Given the description of an element on the screen output the (x, y) to click on. 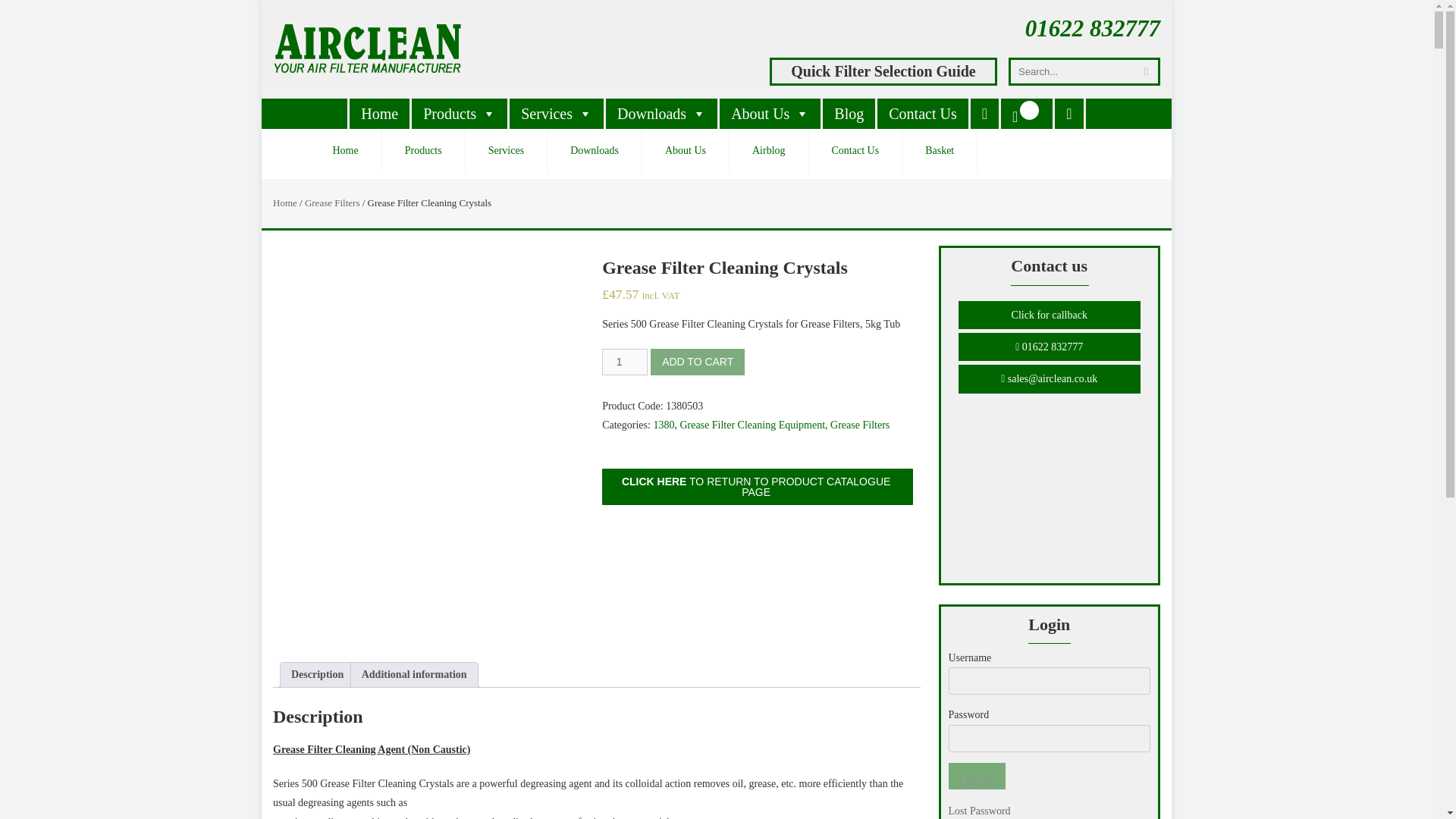
Log In (975, 775)
Home (379, 113)
Quick Filter Selection Guide (882, 70)
01622 832777 (1092, 28)
1 (624, 361)
Products (459, 113)
